Given the description of an element on the screen output the (x, y) to click on. 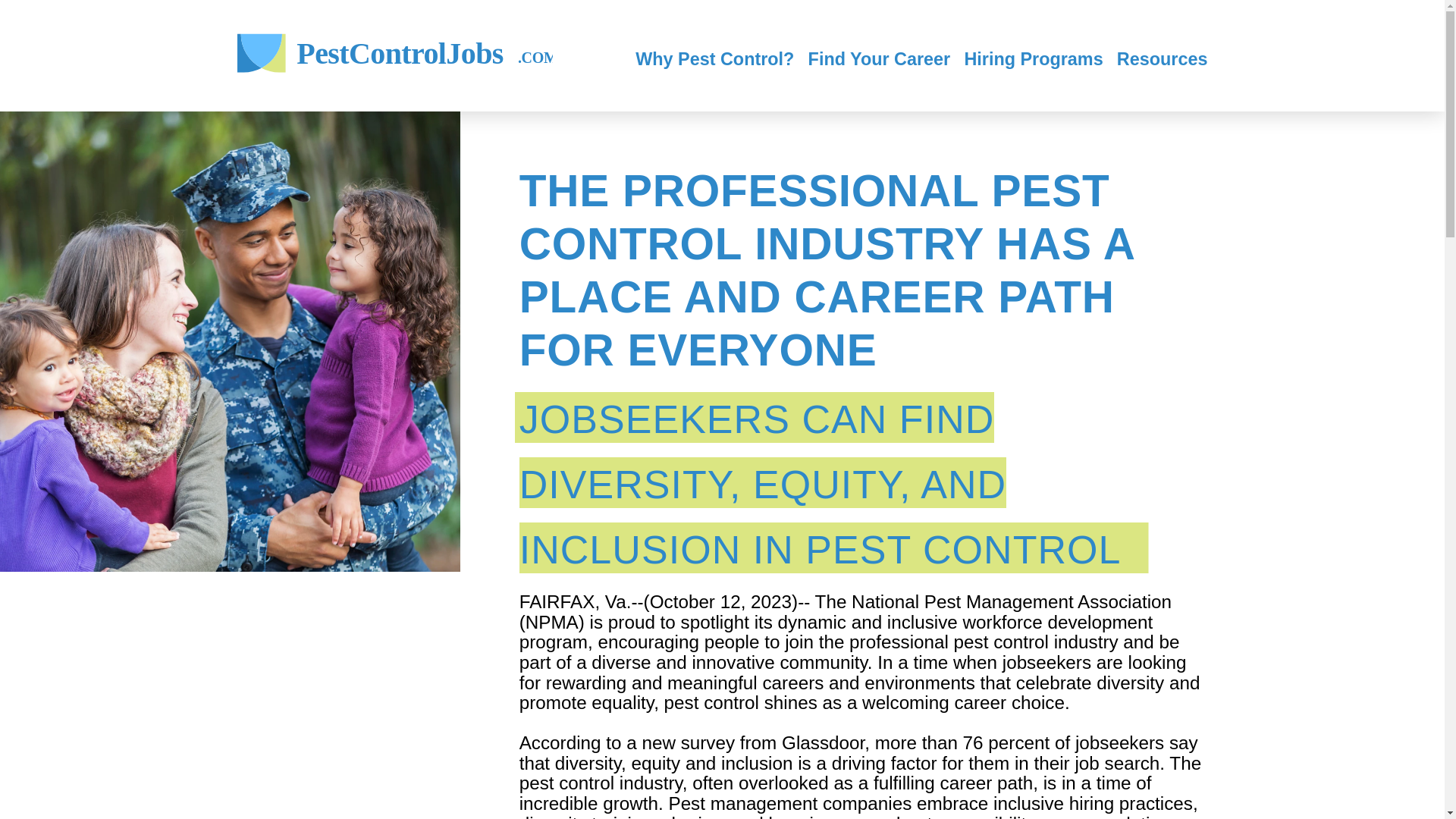
Why Pest Control? (713, 62)
Hiring Programs (393, 55)
Find Your Career (1032, 62)
Resources (879, 62)
